Given the description of an element on the screen output the (x, y) to click on. 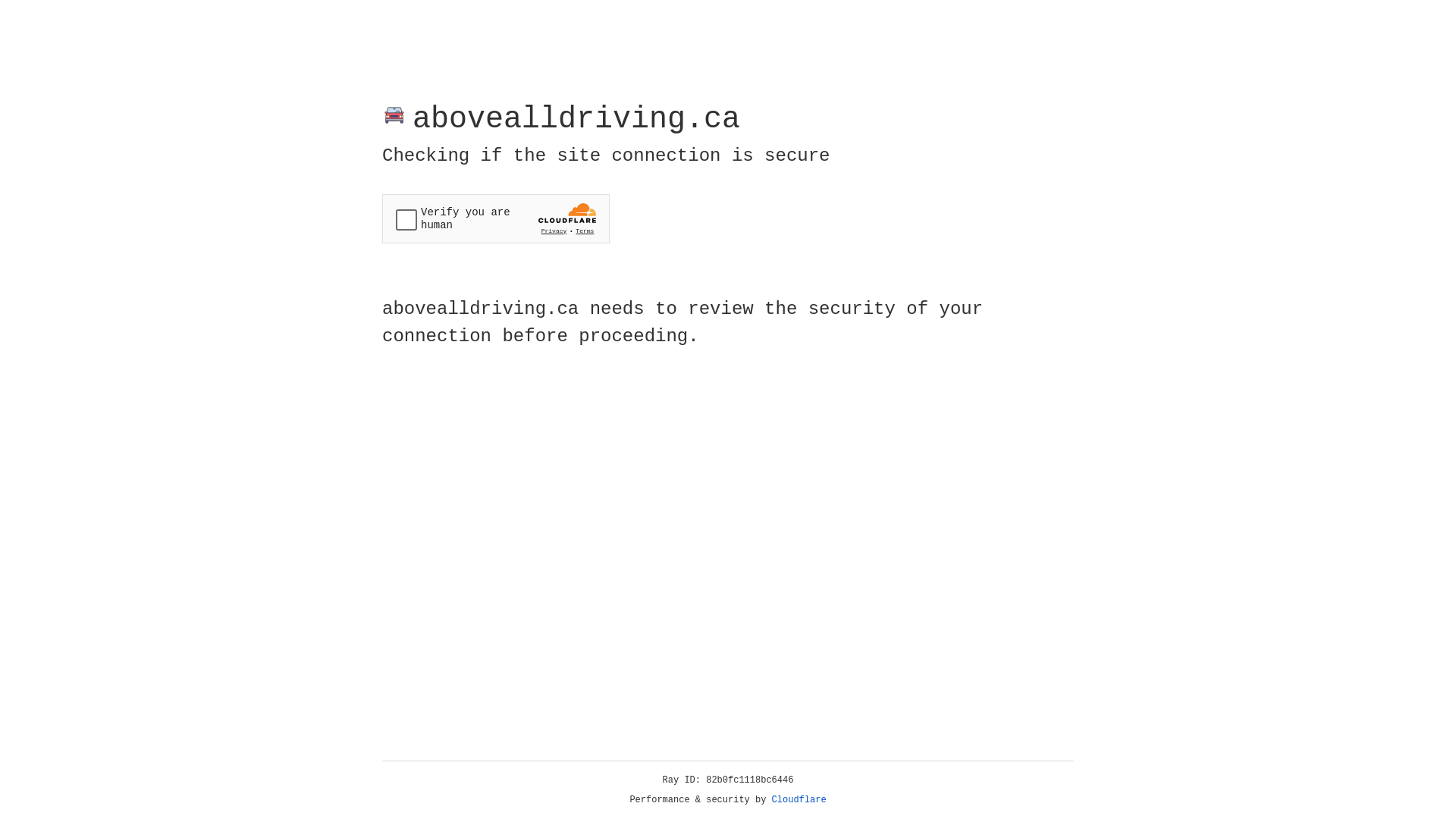
Widget containing a Cloudflare security challenge Element type: hover (495, 218)
Cloudflare Element type: text (798, 799)
